Given the description of an element on the screen output the (x, y) to click on. 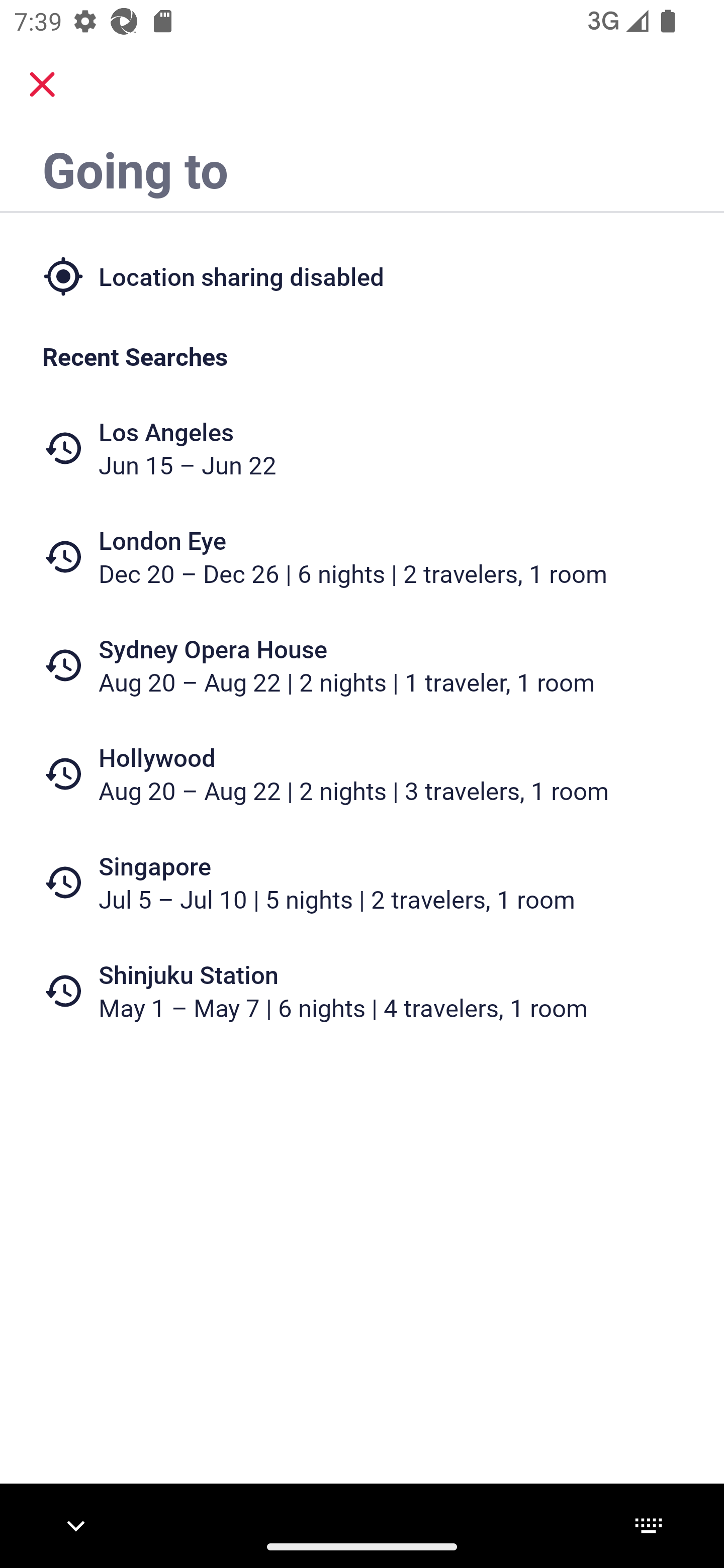
close. (42, 84)
Location sharing disabled (362, 275)
Los Angeles Jun 15 – Jun 22 (362, 448)
